Given the description of an element on the screen output the (x, y) to click on. 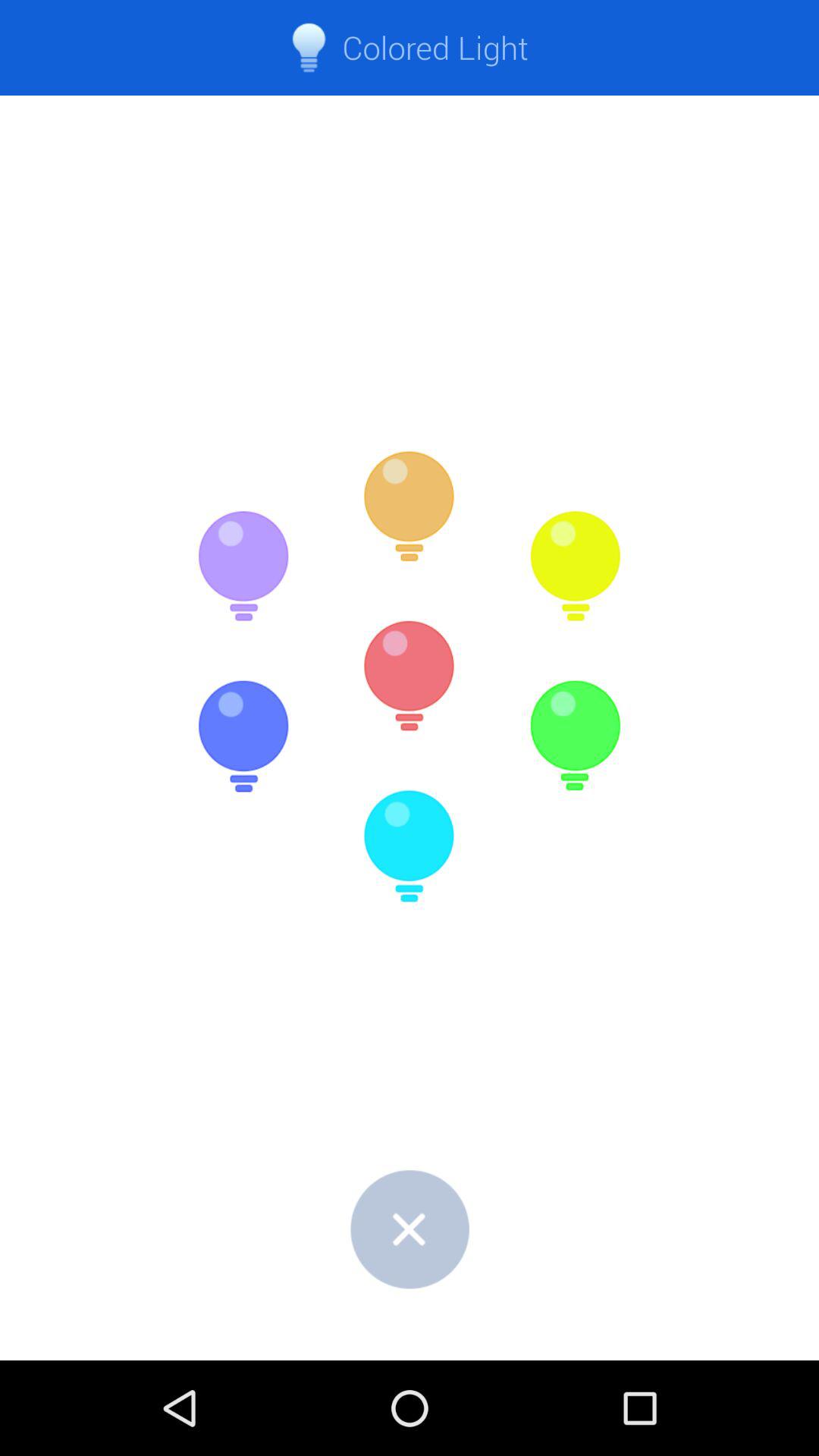
toggle a light (243, 566)
